Given the description of an element on the screen output the (x, y) to click on. 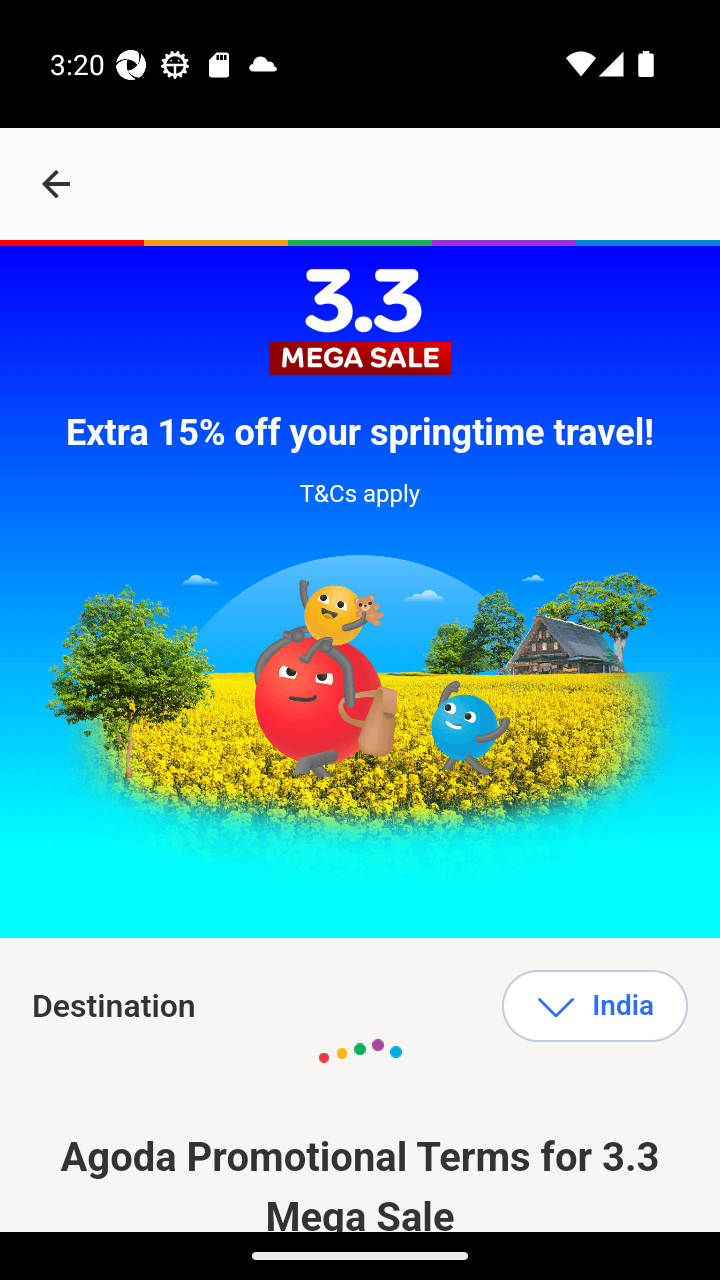
navigation_button (56, 184)
India (594, 1005)
